Given the description of an element on the screen output the (x, y) to click on. 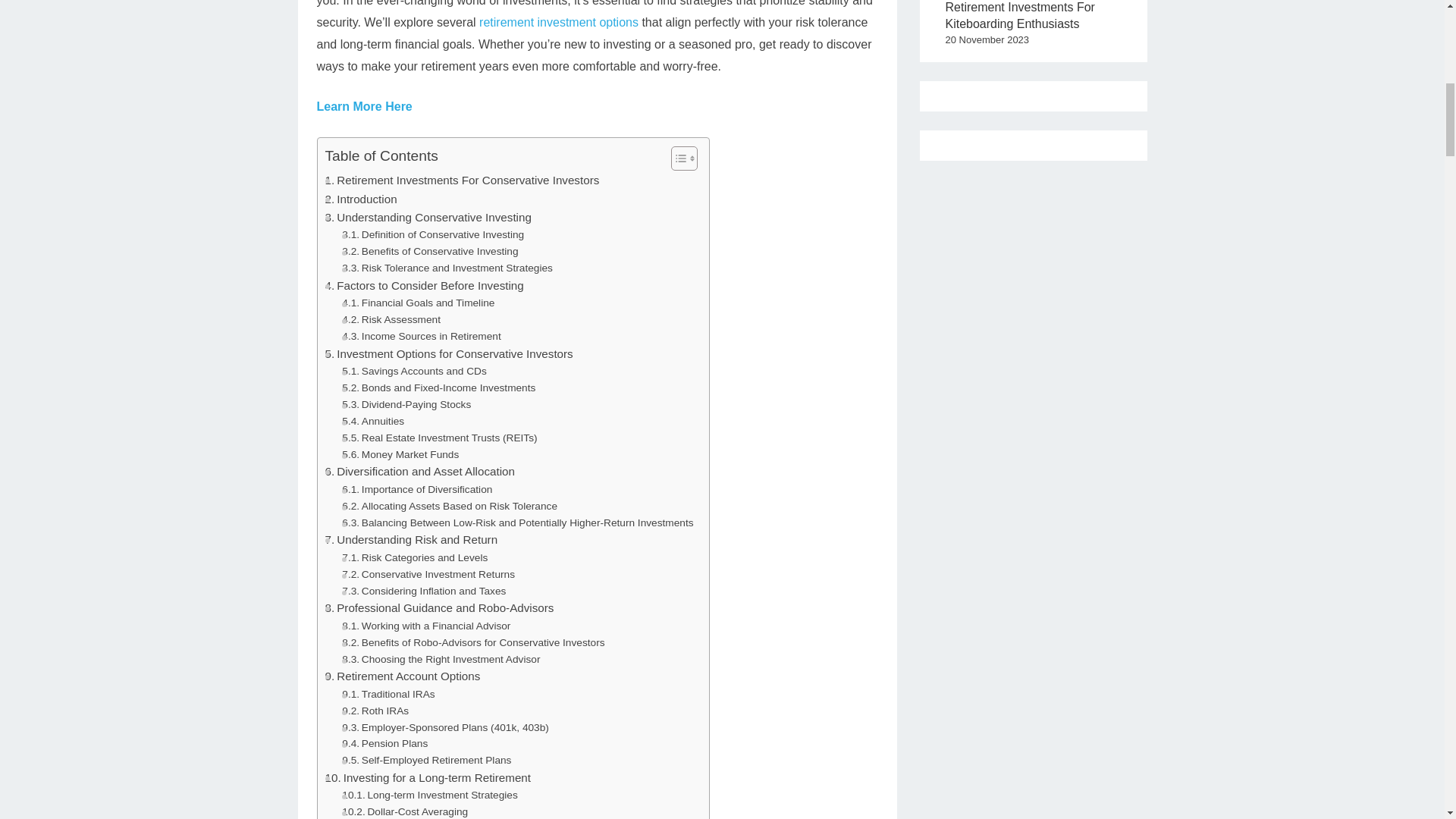
Income Sources in Retirement (421, 336)
Savings Accounts and CDs (414, 371)
Retirement Investments For Conservative Investors (461, 180)
Introduction (360, 199)
Diversification and Asset Allocation (418, 471)
Financial Goals and Timeline (418, 303)
Savings Accounts and CDs (414, 371)
Definition of Conservative Investing (433, 234)
Financial Goals and Timeline (418, 303)
Investment Options for Conservative Investors (448, 353)
Dividend-Paying Stocks (406, 404)
Bonds and Fixed-Income Investments (438, 388)
Risk Tolerance and Investment Strategies (447, 268)
Risk Tolerance and Investment Strategies (447, 268)
